Given the description of an element on the screen output the (x, y) to click on. 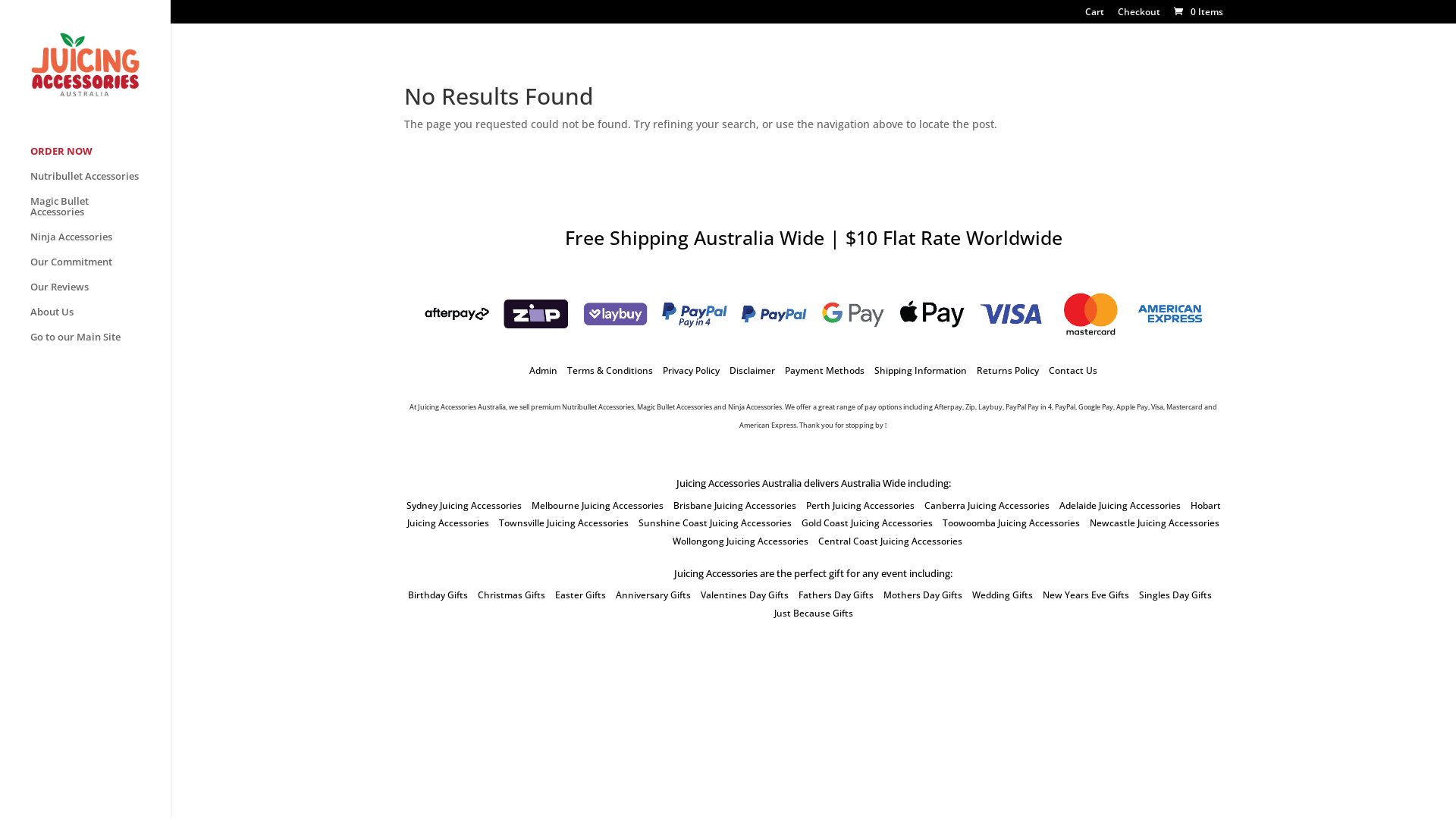
Singles Day Gifts Element type: text (1175, 594)
Terms & Conditions Element type: text (609, 370)
Sydney Juicing Accessories Element type: text (463, 504)
Gold Coast Juicing Accessories Element type: text (866, 522)
Contact Us Element type: text (1072, 370)
Newcastle Juicing Accessories Element type: text (1154, 522)
Go to our Main Site Element type: text (100, 343)
Wedding Gifts Element type: text (1002, 594)
Returns Policy Element type: text (1007, 370)
Disclaimer Element type: text (752, 370)
Birthday Gifts Element type: text (437, 594)
Mothers Day Gifts Element type: text (921, 594)
Payment Methods Element type: text (824, 370)
Magic Bullet Accessories Element type: text (100, 213)
Hobart Juicing Accessories Element type: text (813, 514)
Sunshine Coast Juicing Accessories Element type: text (714, 522)
Our Commitment Element type: text (100, 268)
0 Items Element type: text (1196, 11)
Nutribullet Accessories Element type: text (100, 182)
Our Reviews Element type: text (100, 293)
Checkout Element type: text (1138, 15)
Canberra Juicing Accessories Element type: text (985, 504)
Shipping Information Element type: text (920, 370)
Fathers Day Gifts Element type: text (834, 594)
Cart Element type: text (1093, 15)
Anniversary Gifts Element type: text (652, 594)
Wollongong Juicing Accessories Element type: text (739, 540)
Privacy Policy Element type: text (690, 370)
Perth Juicing Accessories Element type: text (859, 504)
Christmas Gifts Element type: text (511, 594)
Adelaide Juicing Accessories Element type: text (1118, 504)
ORDER NOW Element type: text (100, 157)
About Us Element type: text (100, 318)
New Years Eve Gifts Element type: text (1084, 594)
Melbourne Juicing Accessories Element type: text (596, 504)
Admin Element type: text (543, 370)
Ninja Accessories Element type: text (100, 243)
Just Because Gifts Element type: text (812, 612)
Valentines Day Gifts Element type: text (744, 594)
Toowoomba Juicing Accessories Element type: text (1010, 522)
Brisbane Juicing Accessories Element type: text (734, 504)
Easter Gifts Element type: text (580, 594)
Townsville Juicing Accessories Element type: text (563, 522)
Central Coast Juicing Accessories Element type: text (889, 540)
